Given the description of an element on the screen output the (x, y) to click on. 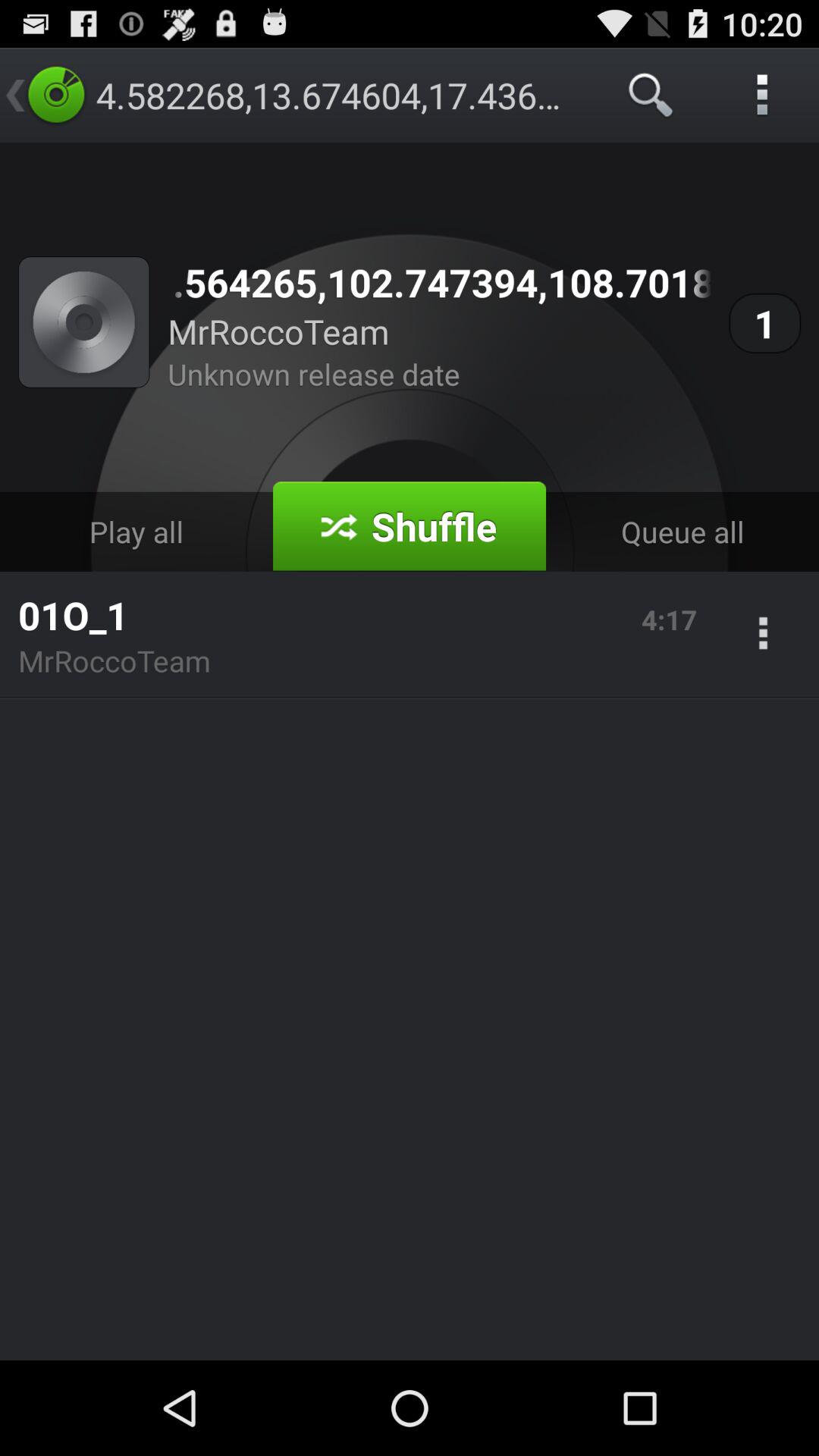
tap queue all app (682, 531)
